Given the description of an element on the screen output the (x, y) to click on. 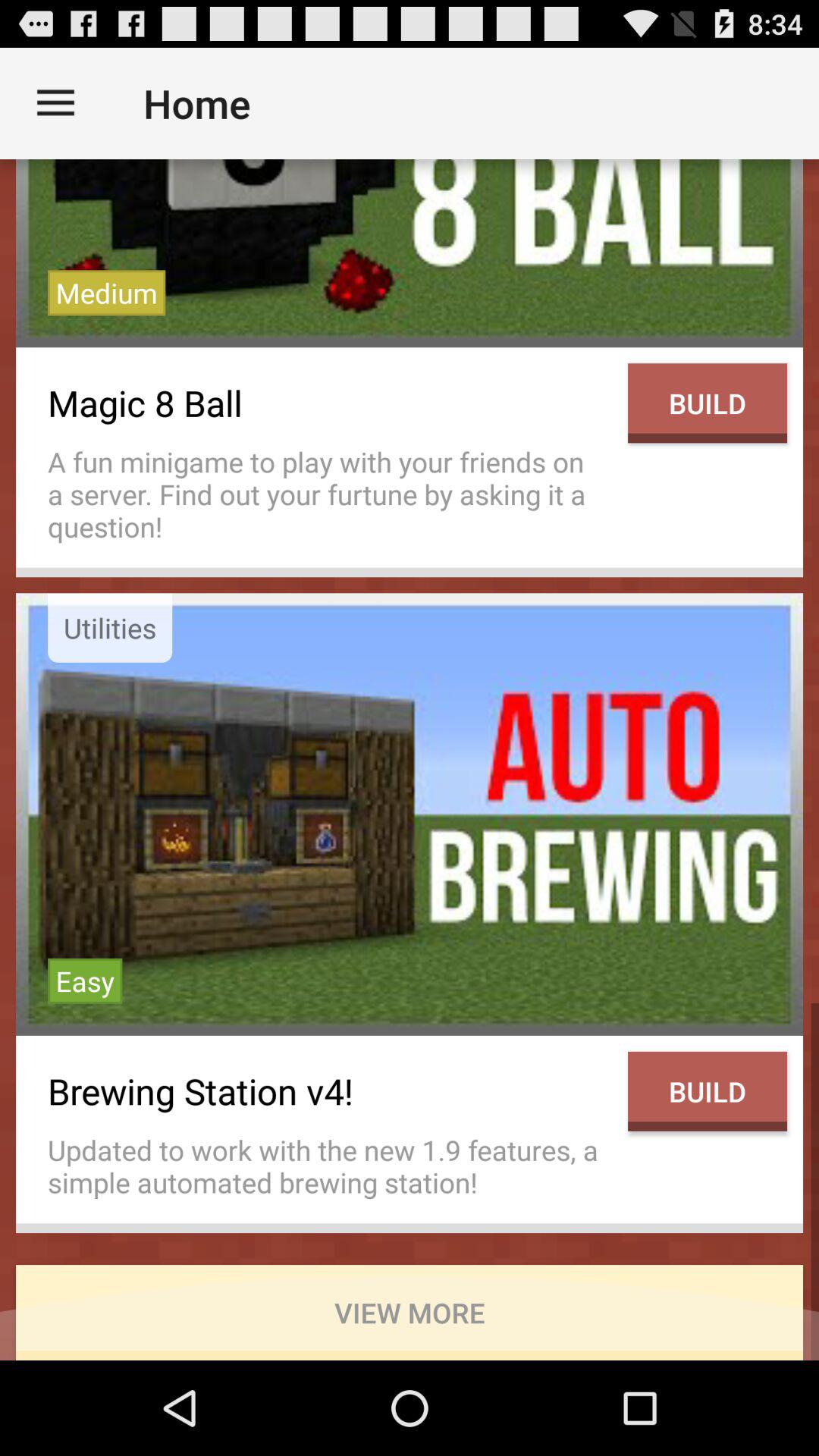
press the icon below updated to work item (409, 1312)
